Given the description of an element on the screen output the (x, y) to click on. 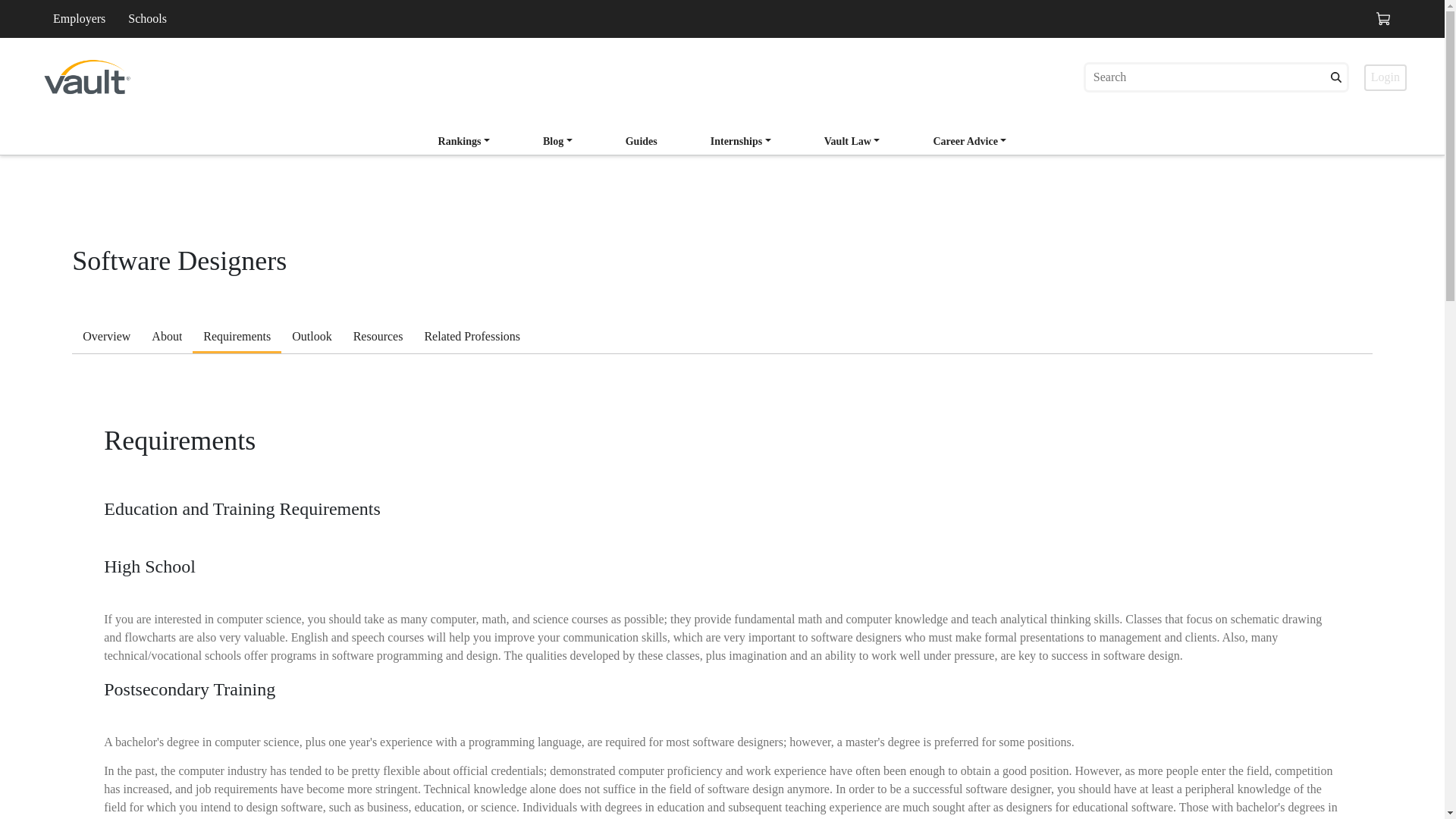
Blog (557, 141)
Outlook (311, 337)
Skip to main content (132, 44)
Career Advice (968, 142)
Related Professions (472, 337)
Internships (740, 141)
Schools (147, 18)
Rankings (464, 142)
Overview (106, 337)
